Given the description of an element on the screen output the (x, y) to click on. 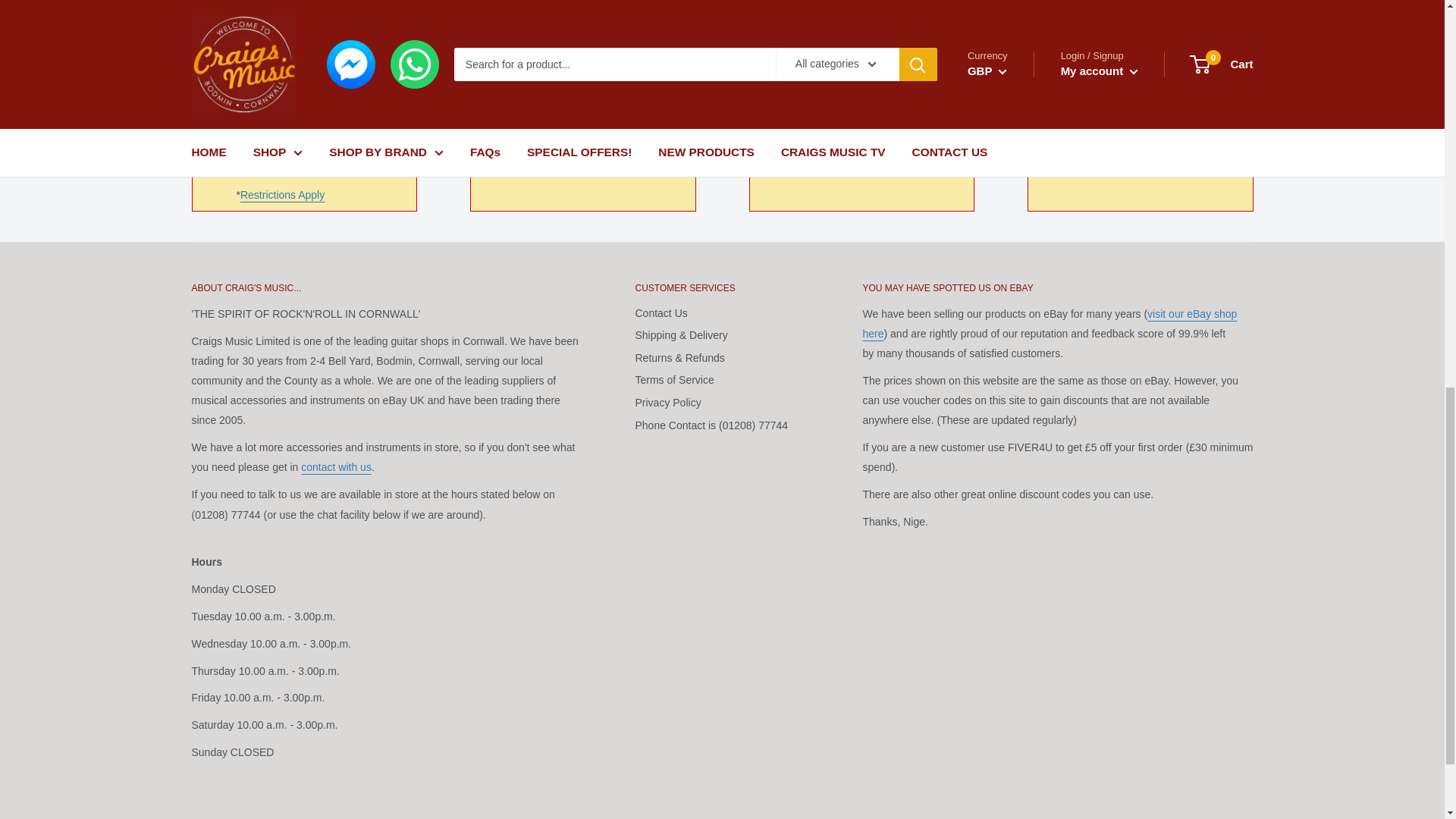
Returns Policy (600, 136)
Contact Us (336, 467)
